Given the description of an element on the screen output the (x, y) to click on. 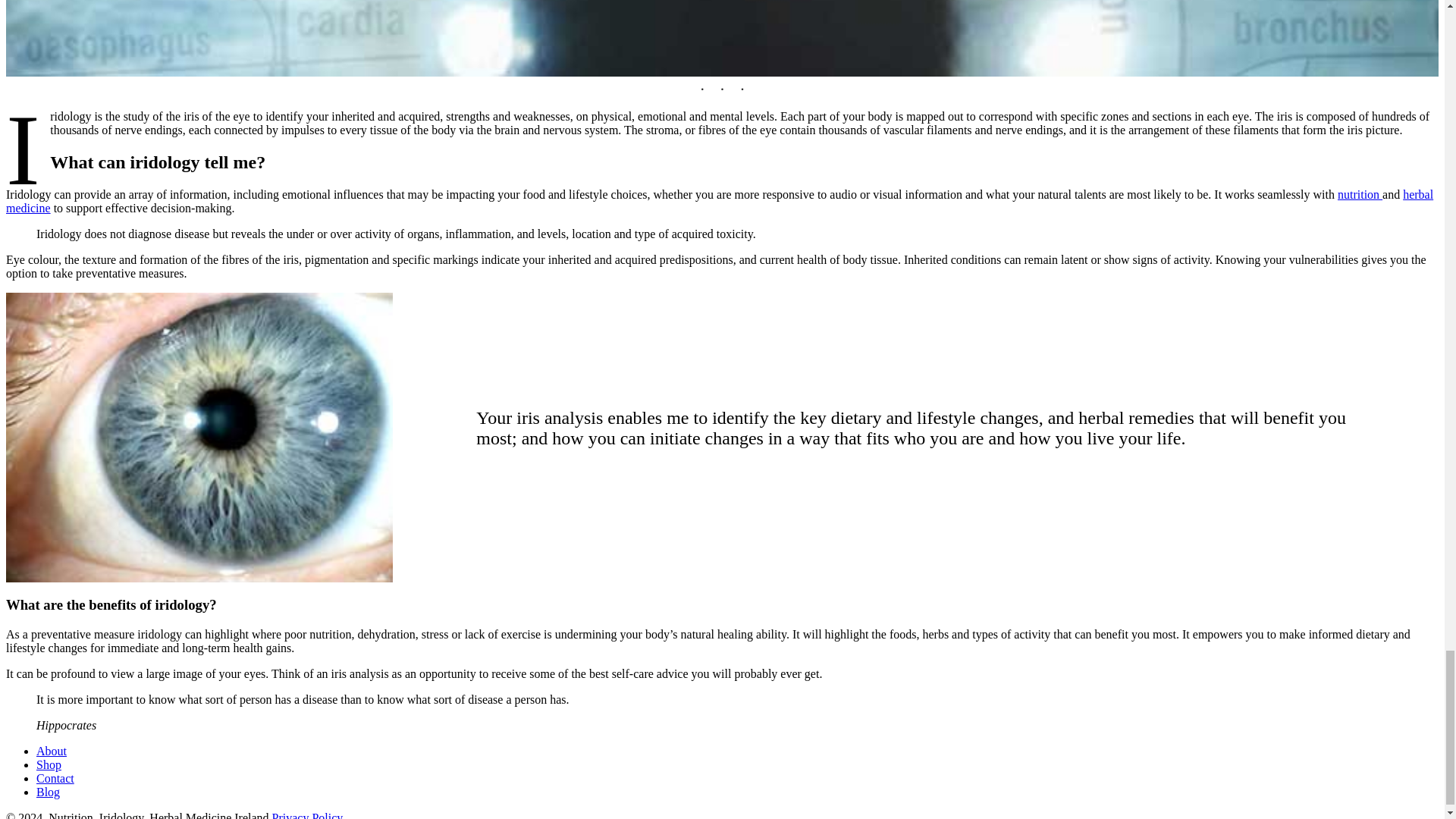
about (51, 750)
About (51, 750)
Contact (55, 778)
Shop (48, 764)
Blog (47, 791)
nutrition (1359, 194)
Nutrition and Iridology (55, 778)
